Given the description of an element on the screen output the (x, y) to click on. 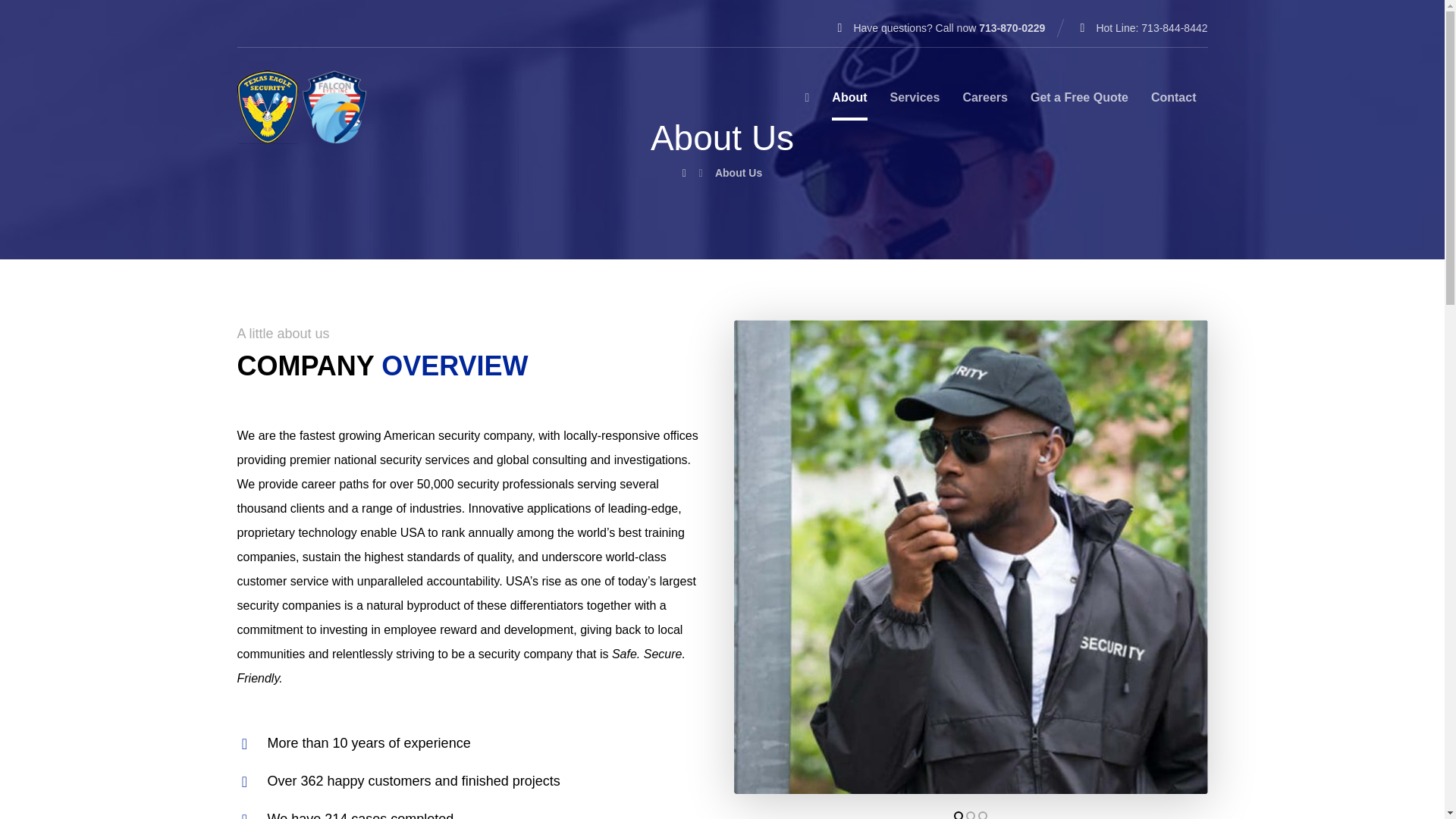
Have questions? Call now 713-870-0229 (938, 26)
1 (957, 815)
3 (982, 815)
Contact (1173, 102)
Home page (683, 173)
About Us (737, 173)
Careers (984, 102)
Hot Line: 713-844-8442 (1141, 26)
Top Security Guard Services in Texas (300, 107)
About (848, 102)
Get a Free Quote (1079, 102)
Services (914, 102)
2 (970, 815)
